Given the description of an element on the screen output the (x, y) to click on. 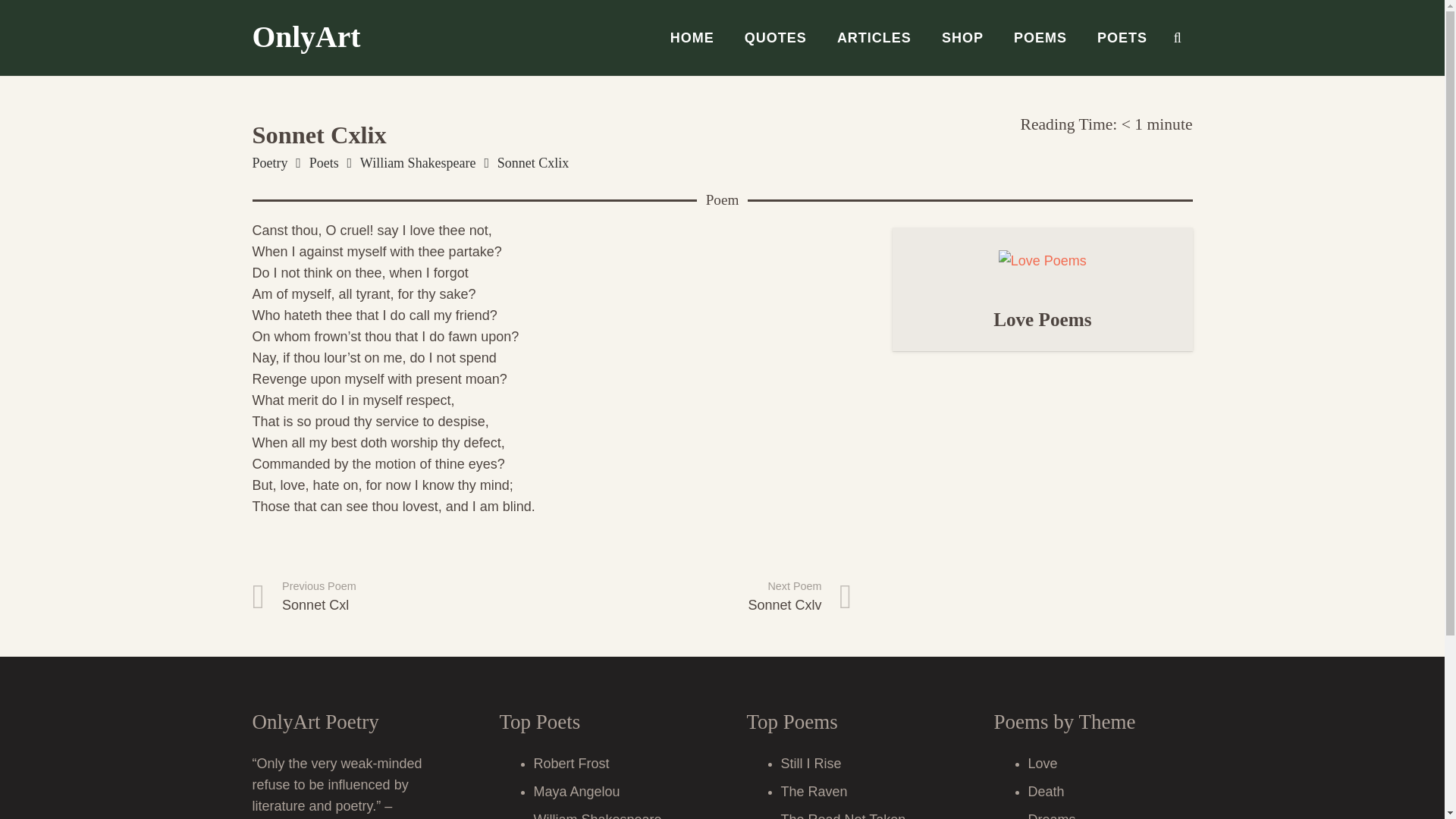
Poetry (268, 162)
Sonnet Cxl (401, 596)
Sonnet Cxlv (701, 596)
POEMS (1039, 38)
HOME (692, 38)
Poets (323, 162)
William Shakespeare (417, 162)
QUOTES (775, 38)
OnlyArt (701, 596)
